Given the description of an element on the screen output the (x, y) to click on. 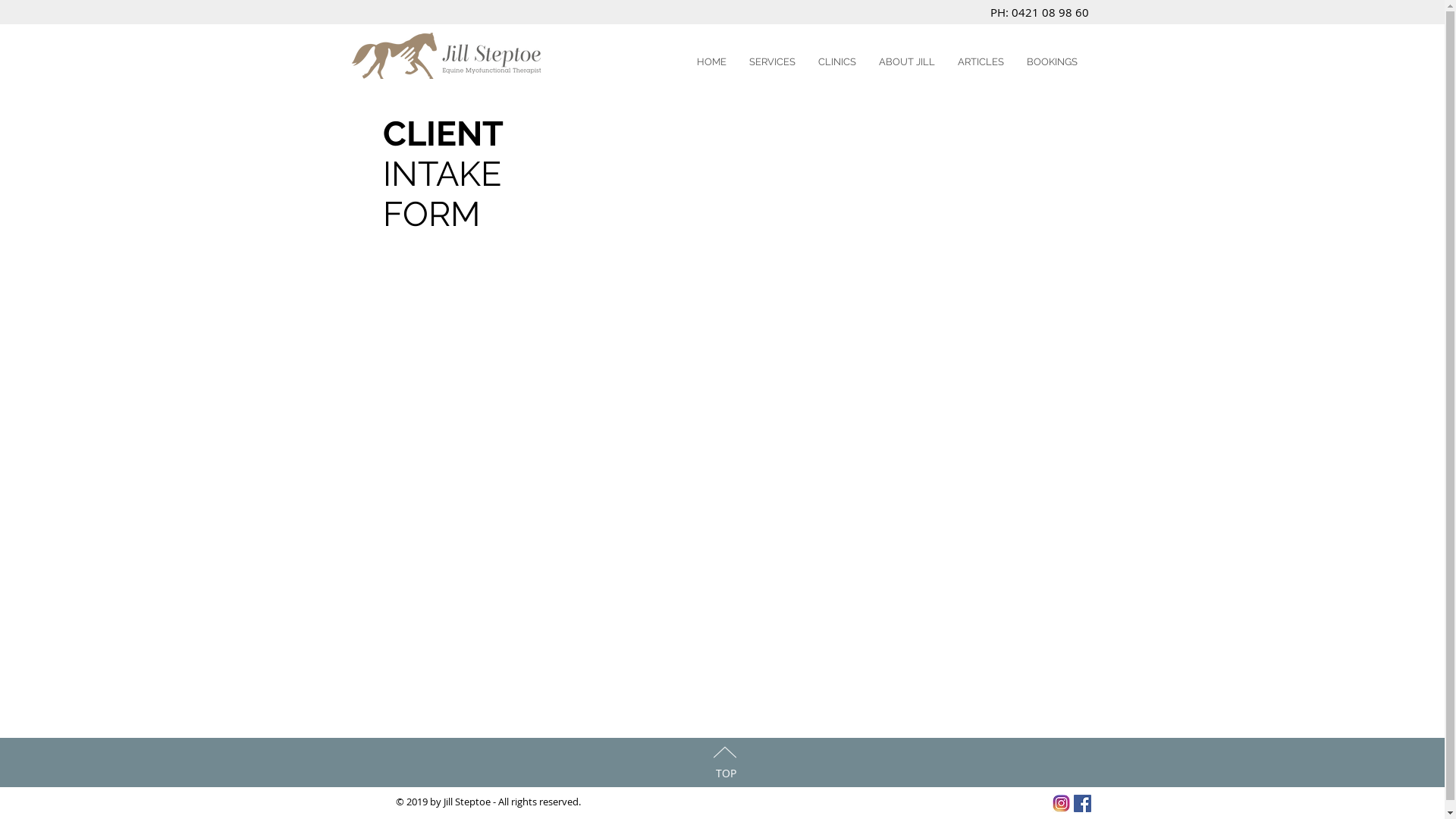
TOP Element type: text (725, 772)
SERVICES Element type: text (771, 61)
BOOKINGS Element type: text (1051, 61)
ARTICLES Element type: text (980, 61)
CLINICS Element type: text (836, 61)
Jill Steptoe | Horse Massage Geelong, Werribee and surrounds Element type: hover (445, 55)
ABOUT JILL Element type: text (906, 61)
HOME Element type: text (711, 61)
